Given the description of an element on the screen output the (x, y) to click on. 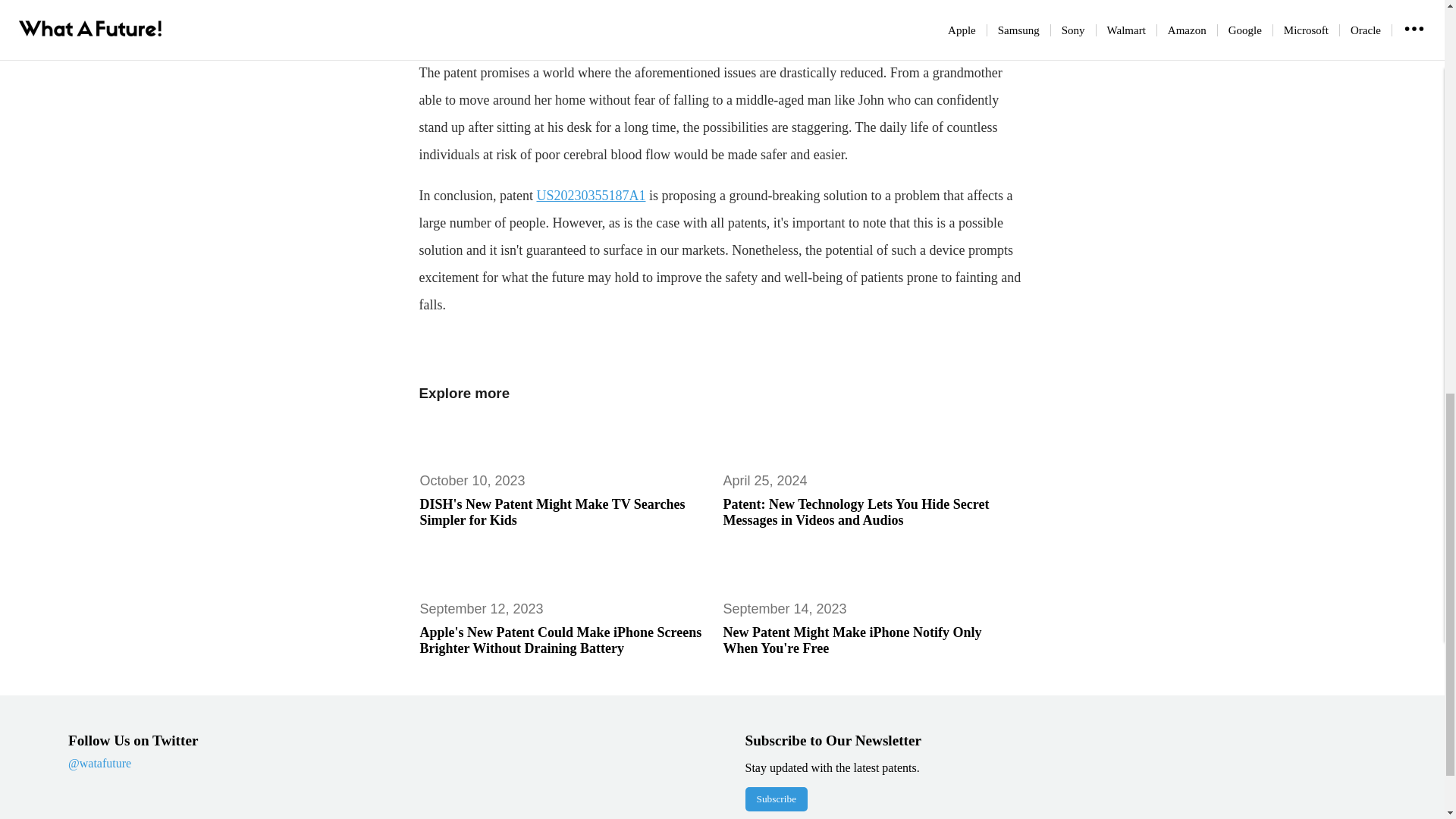
US20230355187A1 (590, 195)
